Given the description of an element on the screen output the (x, y) to click on. 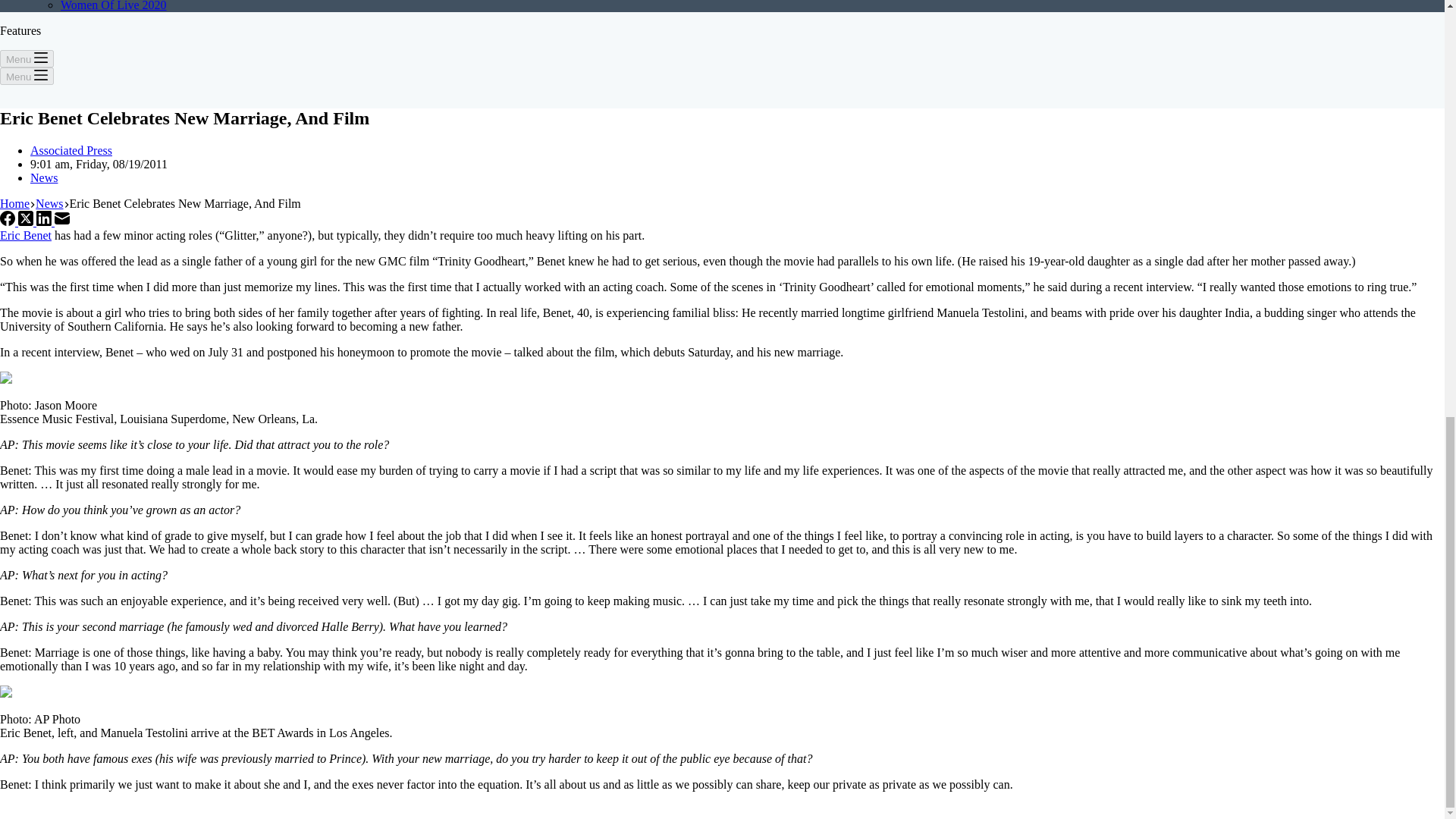
Posts by Associated Press (71, 150)
